Given the description of an element on the screen output the (x, y) to click on. 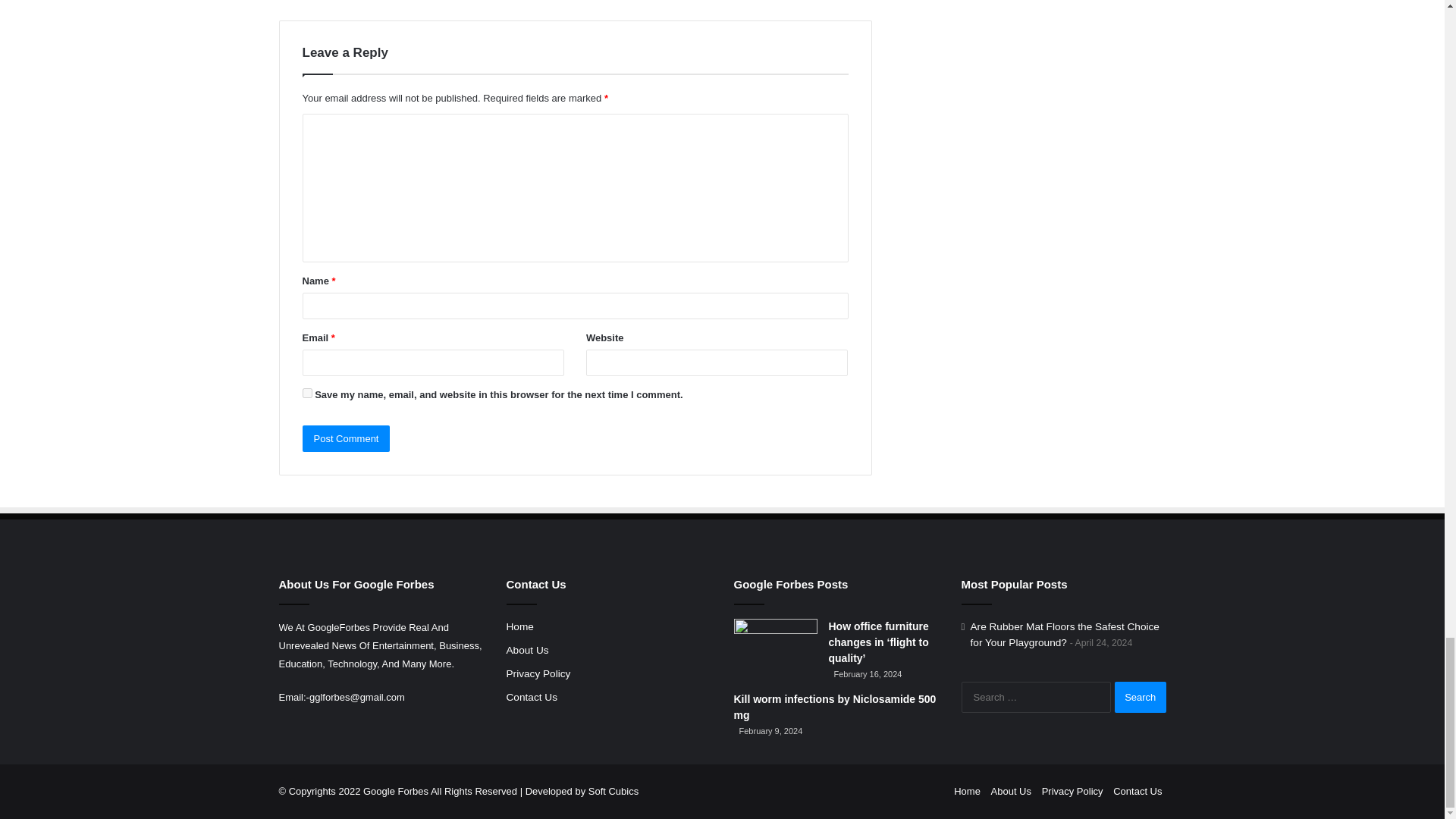
yes (306, 393)
Post Comment (345, 438)
Search (1140, 696)
Search (1140, 696)
